Given the description of an element on the screen output the (x, y) to click on. 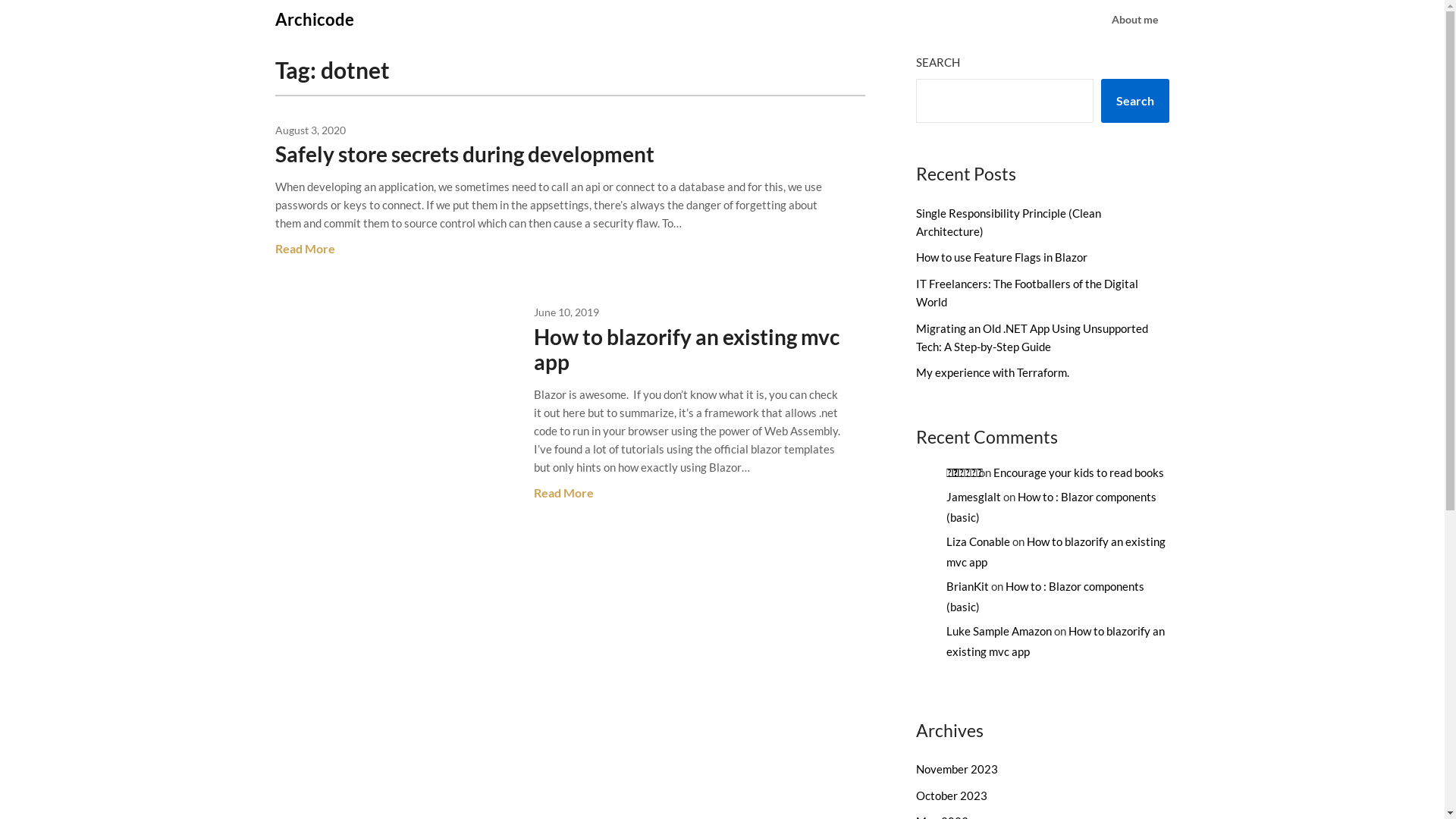
How to blazorify an existing mvc app Element type: text (1055, 641)
June 10, 2019 Element type: text (566, 311)
Read More Element type: text (563, 492)
My experience with Terraform. Element type: text (992, 372)
Read More Element type: text (304, 248)
About me Element type: text (1134, 20)
August 3, 2020 Element type: text (309, 129)
BrianKit Element type: text (967, 586)
Single Responsibility Principle (Clean Architecture) Element type: text (1008, 222)
How to blazorify an existing mvc app Element type: text (686, 348)
How to : Blazor components (basic) Element type: text (1045, 596)
Liza Conable Element type: text (978, 541)
Encourage your kids to read books Element type: text (1078, 472)
Luke Sample Amazon Element type: text (998, 630)
Safely store secrets during development Element type: text (463, 153)
Archicode Element type: text (313, 19)
October 2023 Element type: text (951, 795)
How to blazorify an existing mvc app Element type: text (1055, 551)
How to : Blazor components (basic) Element type: text (1051, 506)
Search Element type: text (1135, 100)
November 2023 Element type: text (956, 768)
IT Freelancers: The Footballers of the Digital World Element type: text (1027, 292)
How to use Feature Flags in Blazor Element type: text (1001, 256)
Jamesglalt Element type: text (973, 496)
